Given the description of an element on the screen output the (x, y) to click on. 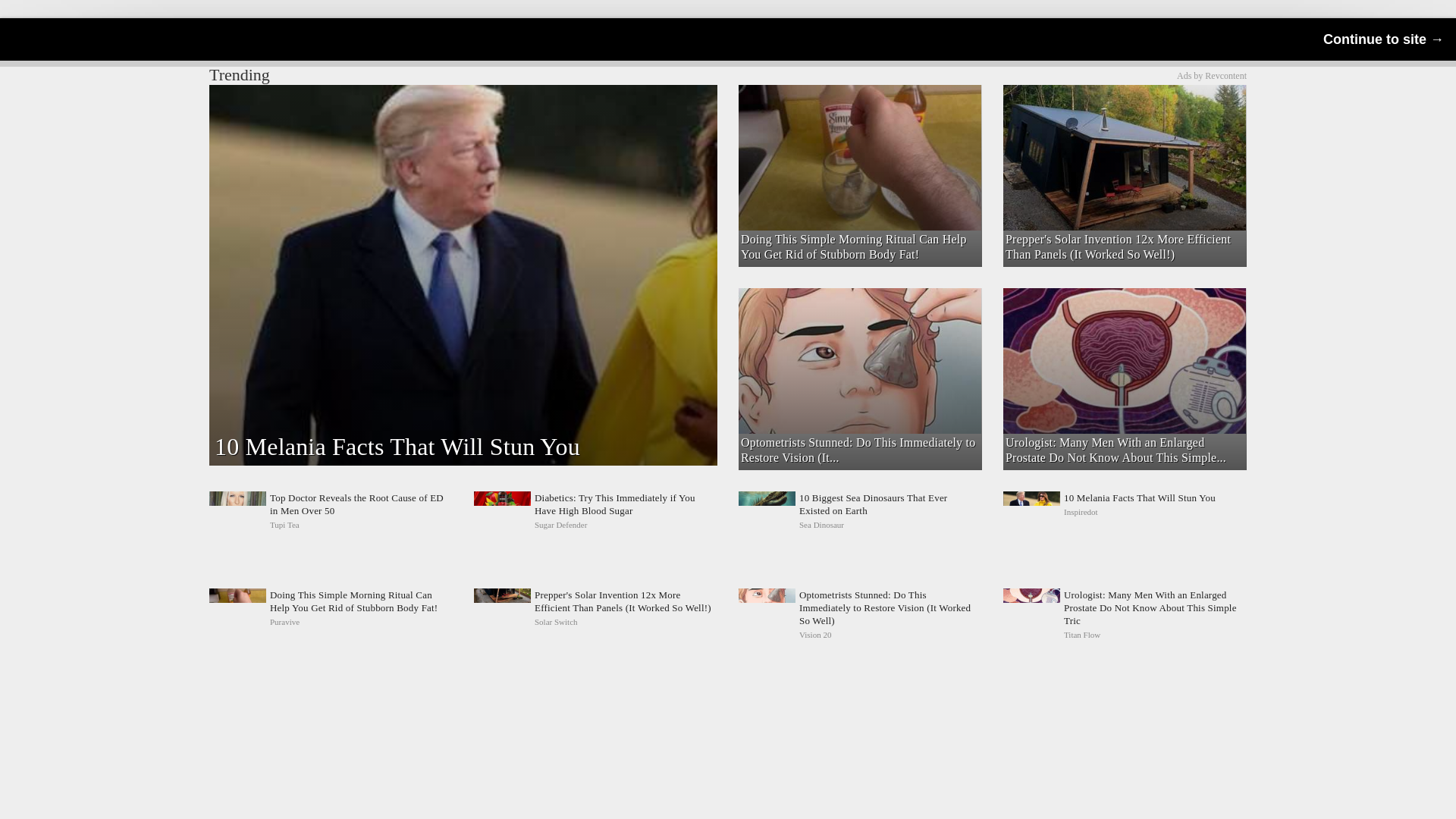
10 Melania Facts That Will Stun You (1124, 510)
BIDEN FACEPLANTS (859, 111)
10 Biggest Sea Dinosaurs That Ever Existed on Earth (1124, 510)
10 Melania Facts That Will Stun You (859, 510)
